Given the description of an element on the screen output the (x, y) to click on. 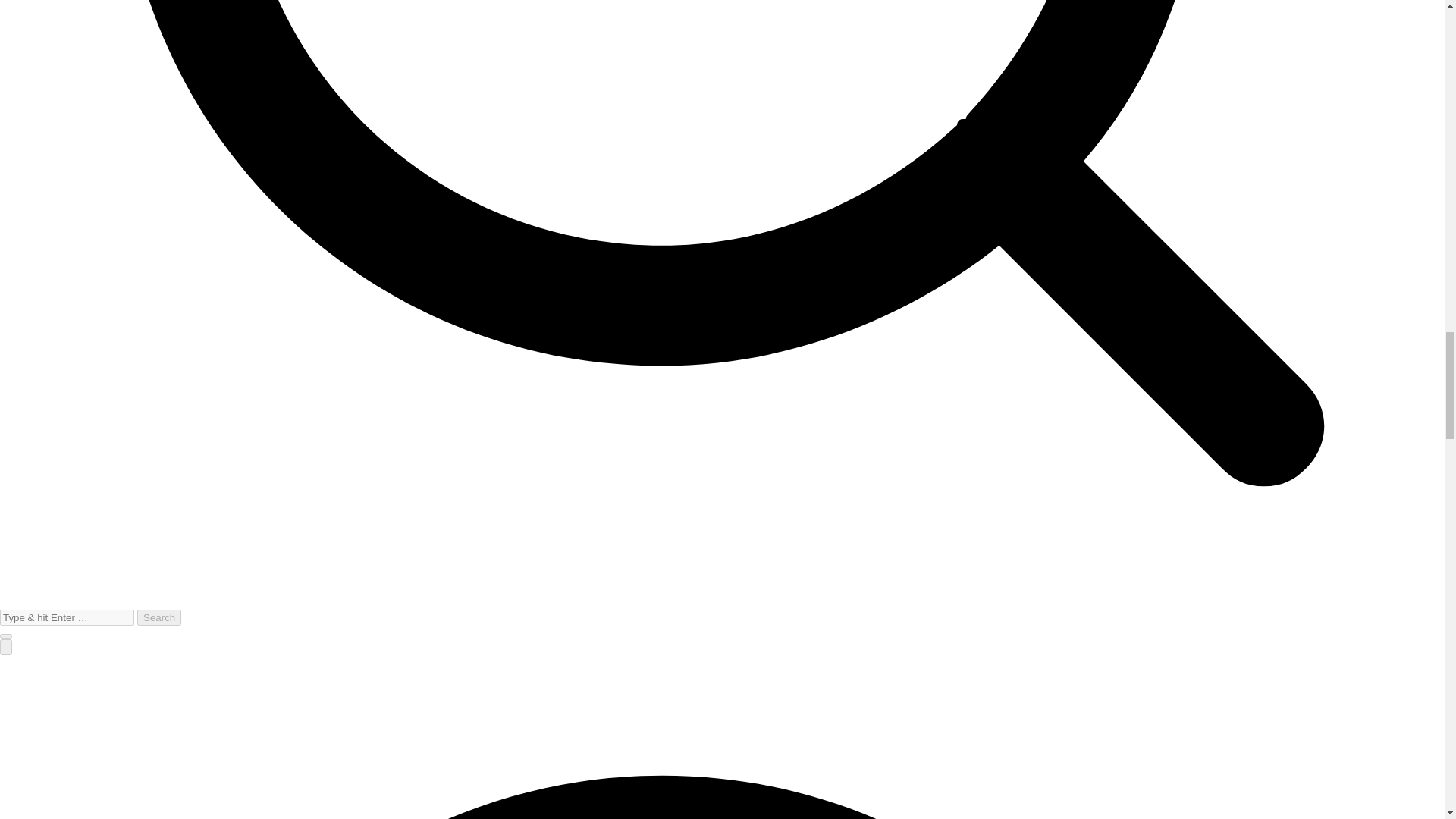
Search (158, 617)
Search for: (66, 617)
Search (158, 617)
Search (158, 617)
